Given the description of an element on the screen output the (x, y) to click on. 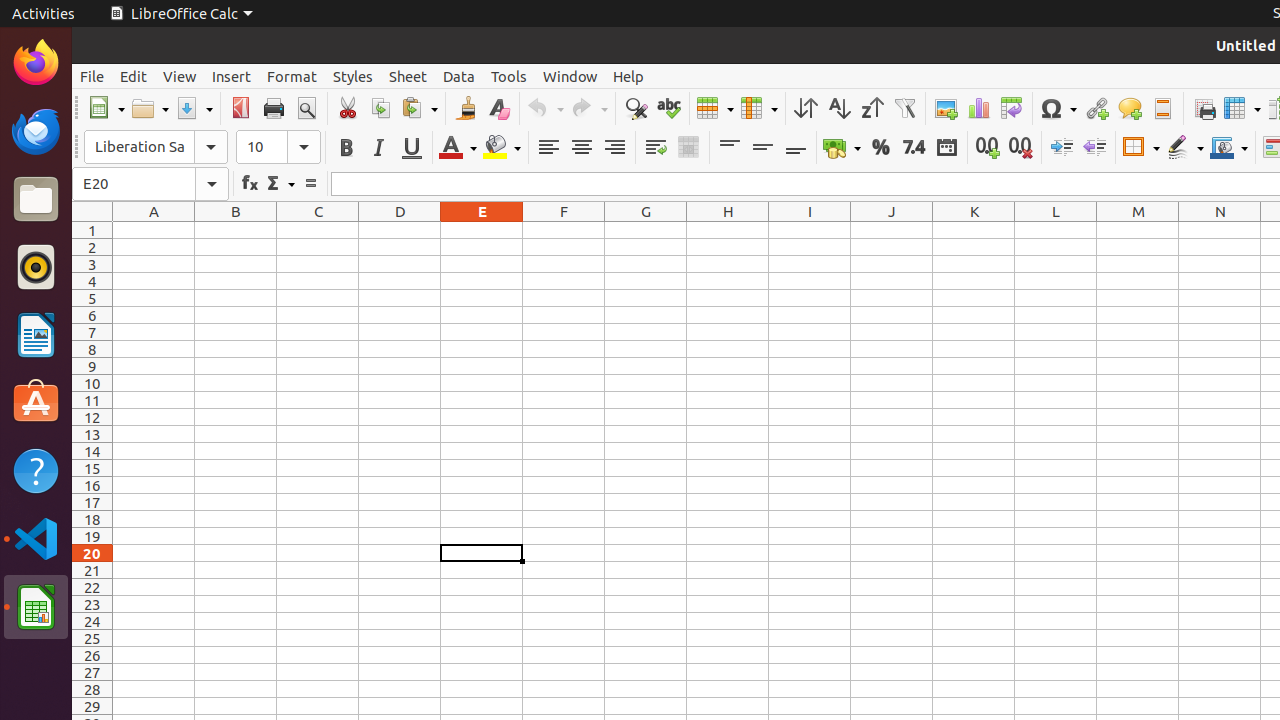
C1 Element type: table-cell (318, 230)
Bold Element type: toggle-button (345, 147)
Delete Decimal Place Element type: push-button (1020, 147)
Sheet Element type: menu (408, 76)
PDF Element type: push-button (240, 108)
